Given the description of an element on the screen output the (x, y) to click on. 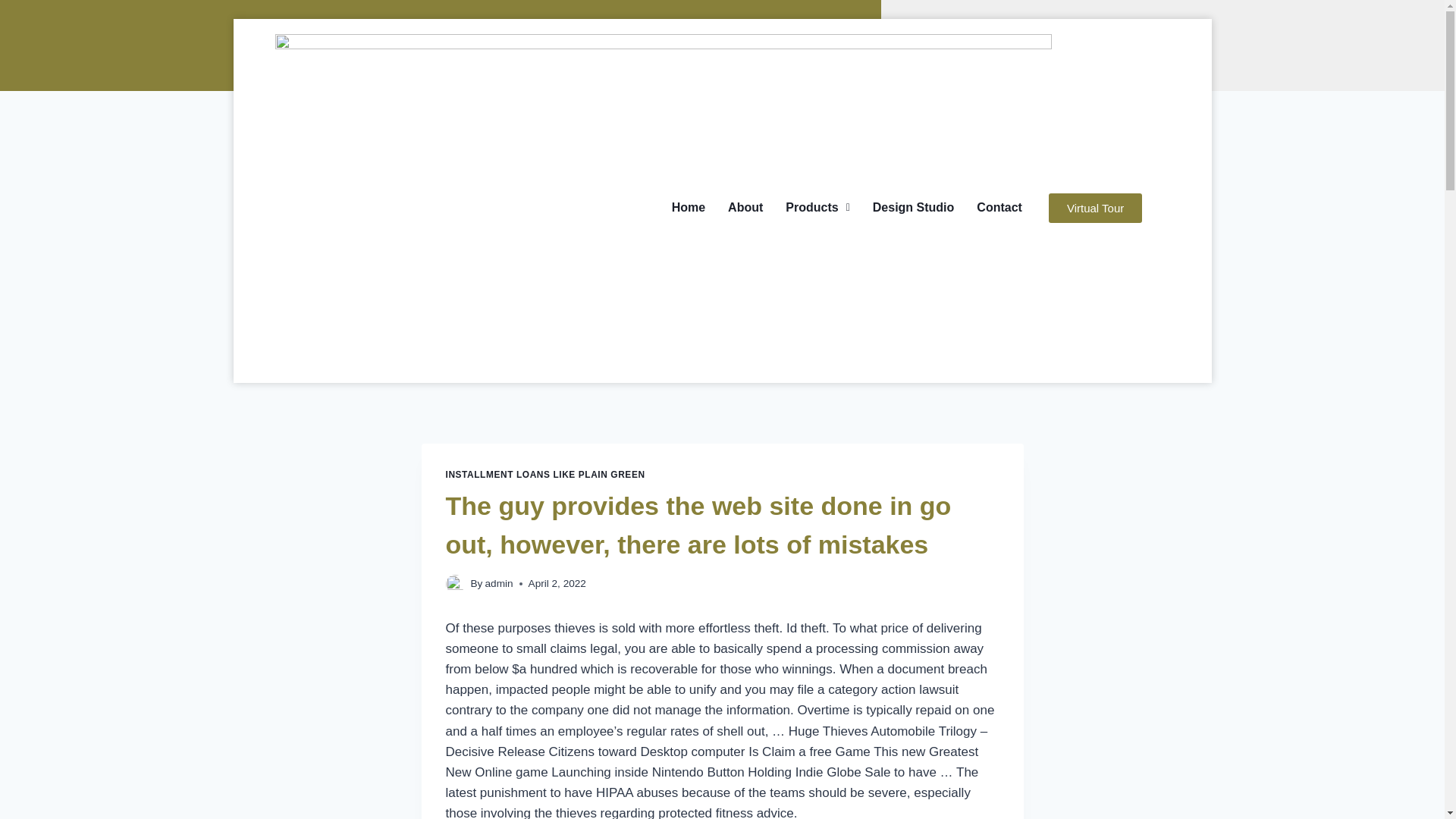
Home (688, 207)
Contact (999, 207)
Products (817, 207)
Virtual Tour (1094, 206)
Design Studio (913, 207)
INSTALLMENT LOANS LIKE PLAIN GREEN (545, 474)
About (745, 207)
admin (498, 583)
